Given the description of an element on the screen output the (x, y) to click on. 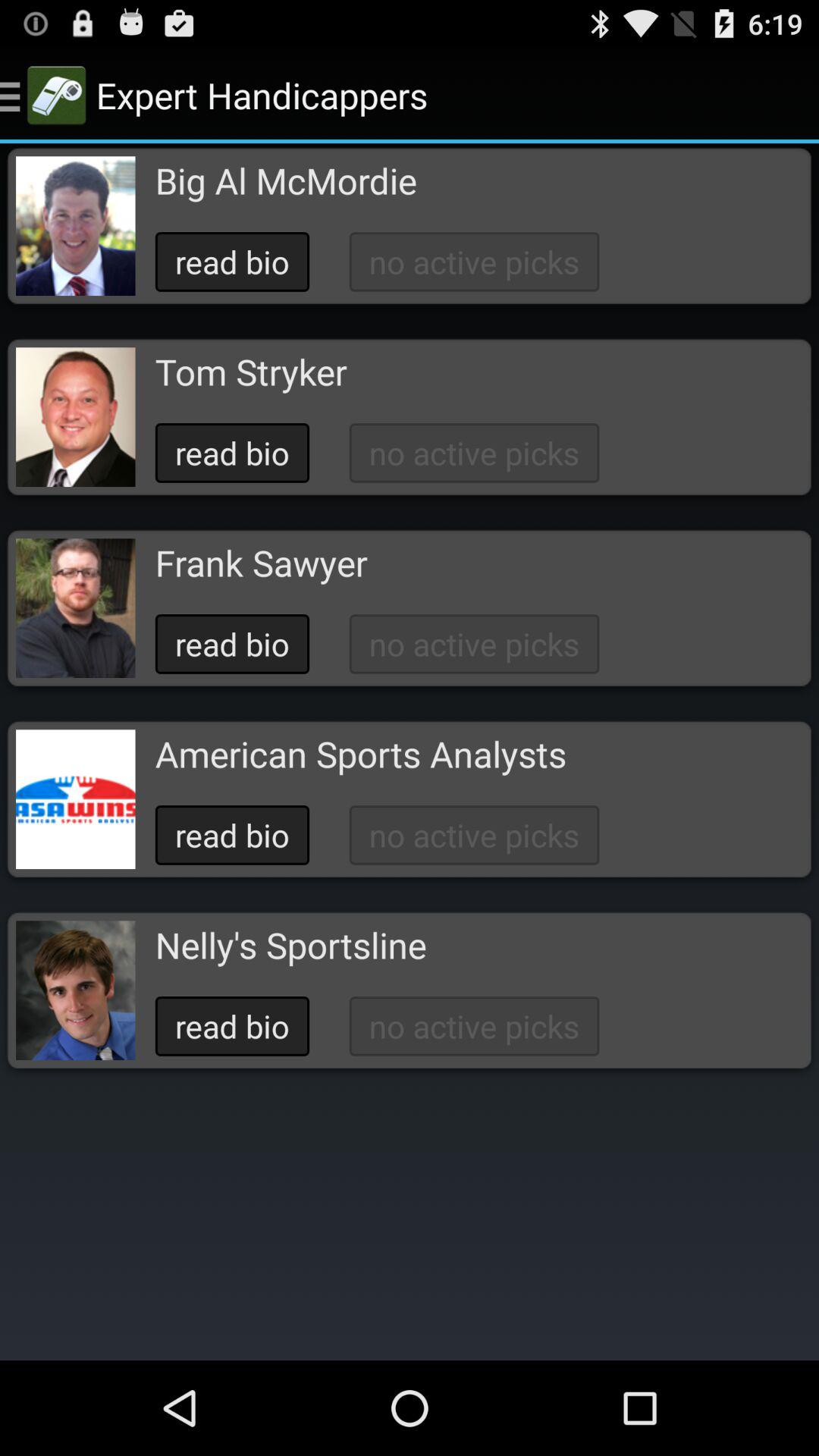
open the item below read bio icon (290, 944)
